Given the description of an element on the screen output the (x, y) to click on. 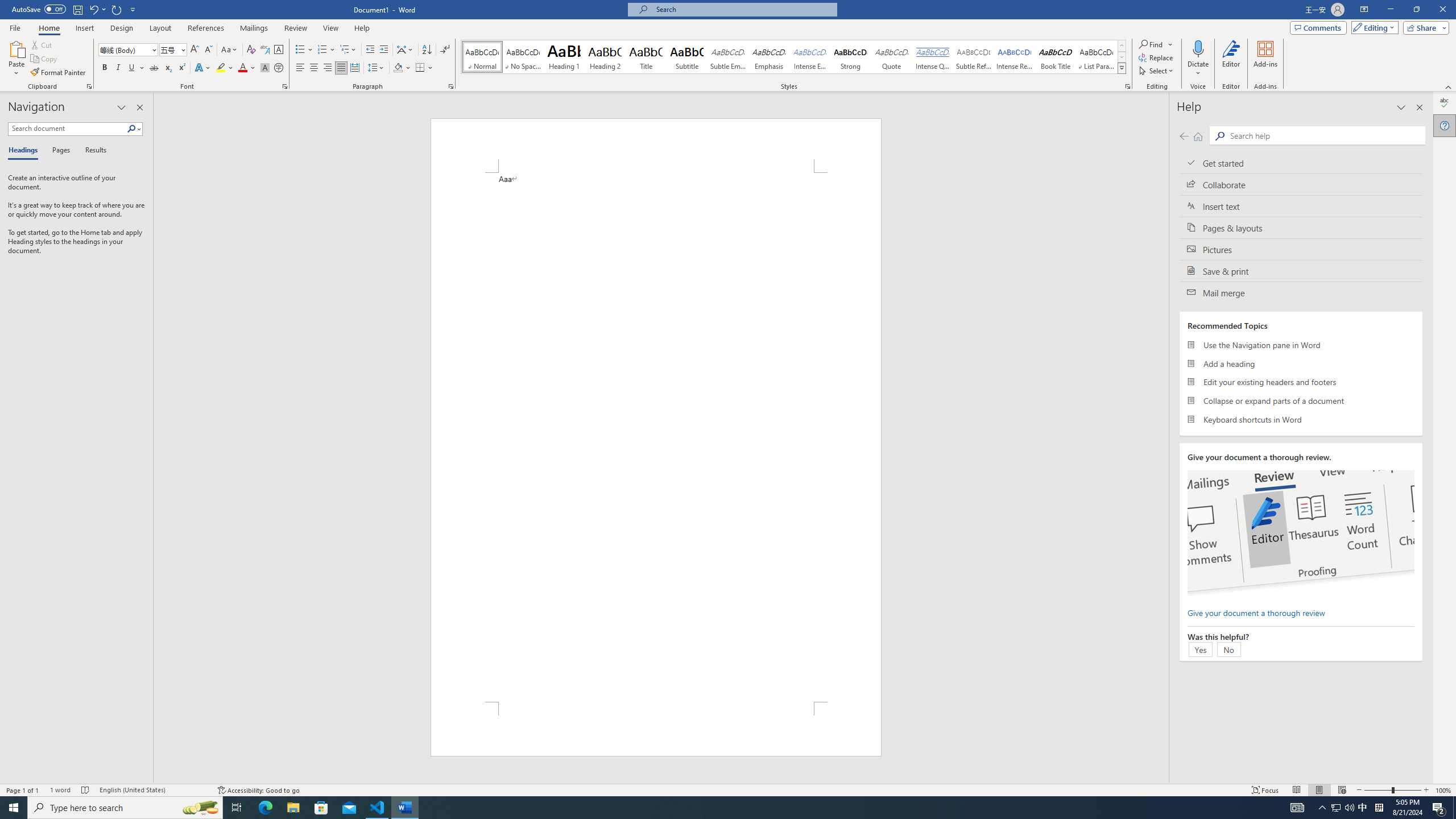
Office Clipboard... (88, 85)
Bold (104, 67)
Cut (42, 44)
Zoom 100% (1443, 790)
AutoSave (38, 9)
System (6, 6)
Collaborate (1300, 184)
Close pane (139, 107)
Headings (25, 150)
AutomationID: QuickStylesGallery (794, 56)
Undo AutoCorrect (96, 9)
Character Shading (264, 67)
File Tab (15, 27)
Get started (1300, 162)
